Given the description of an element on the screen output the (x, y) to click on. 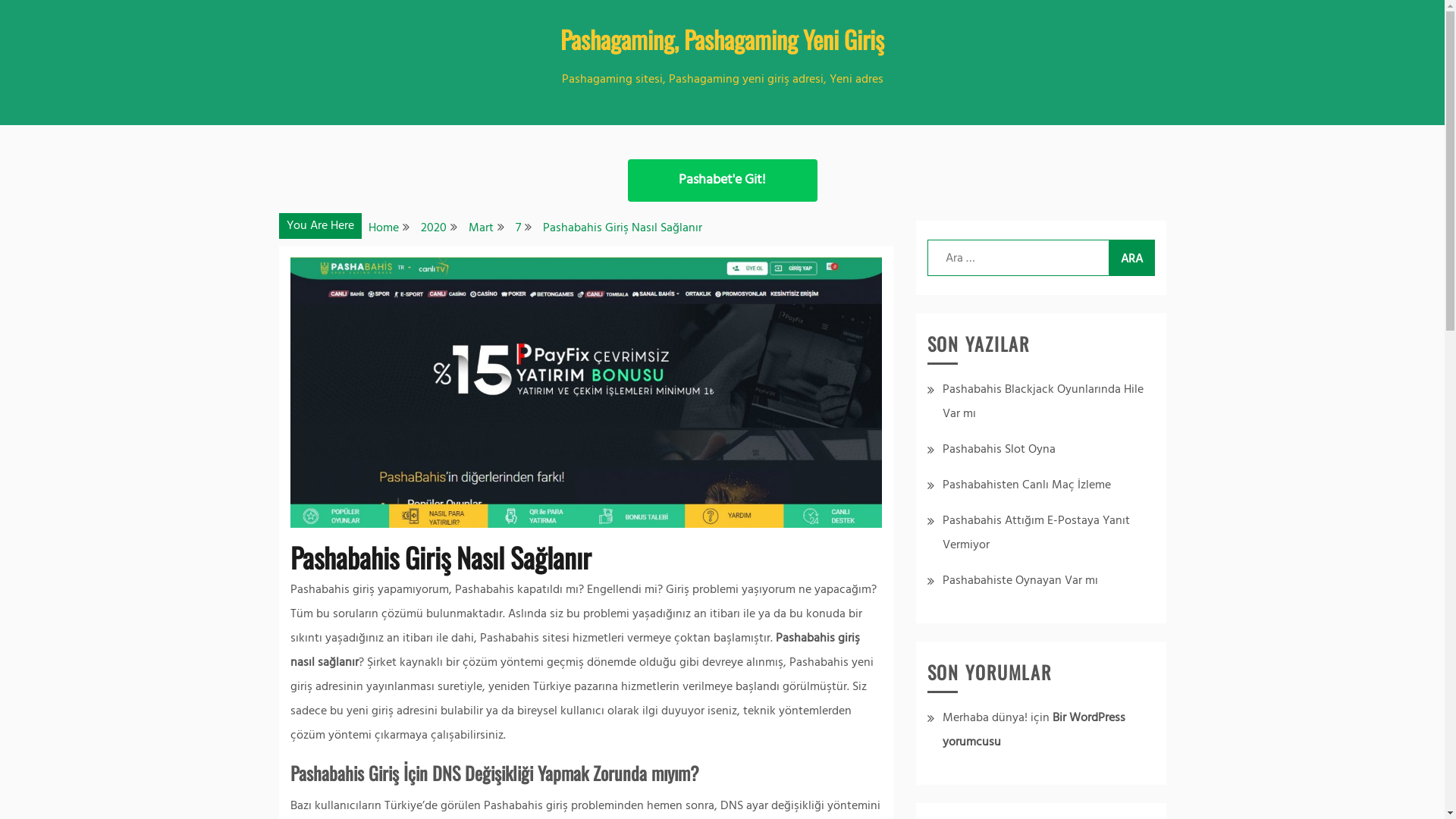
2020 Element type: text (432, 228)
Bir WordPress yorumcusu Element type: text (1032, 730)
Ara Element type: text (1131, 257)
Home Element type: text (383, 228)
Pashabet'e Git! Element type: text (722, 180)
Mart Element type: text (480, 228)
Pashabahis Slot Oyna Element type: text (997, 449)
7 Element type: text (517, 228)
